Given the description of an element on the screen output the (x, y) to click on. 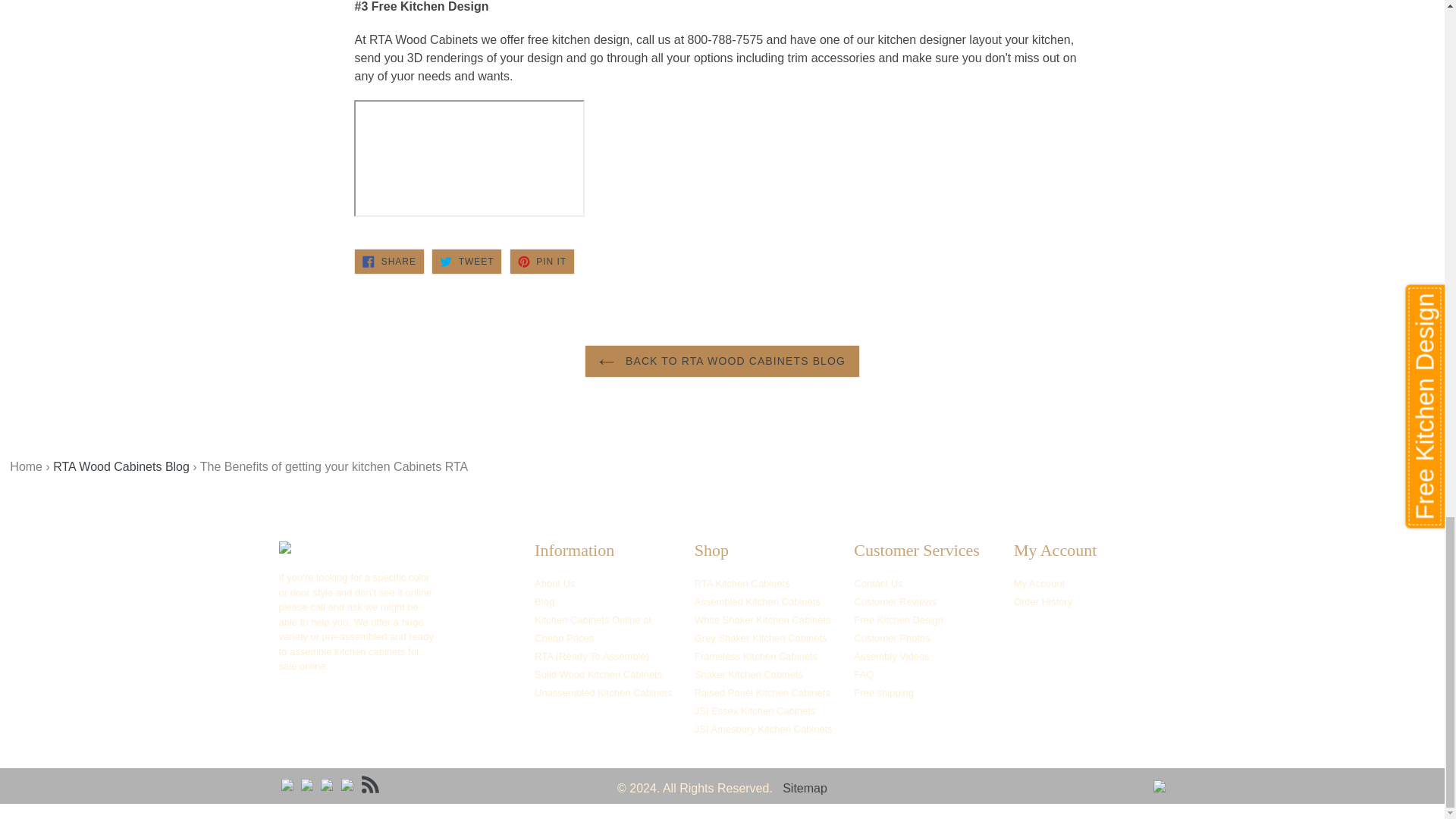
RTA Wood Cabinets on YouTube (347, 783)
Tweet on Twitter (466, 261)
RTA Wood Cabinets on Facebook (287, 783)
Pin on Pinterest (542, 261)
RTA Wood Cabinets on Houzz (306, 783)
RTA Wood Cabinets on Instagram (326, 783)
Home (21, 475)
Share on Facebook (388, 261)
